Given the description of an element on the screen output the (x, y) to click on. 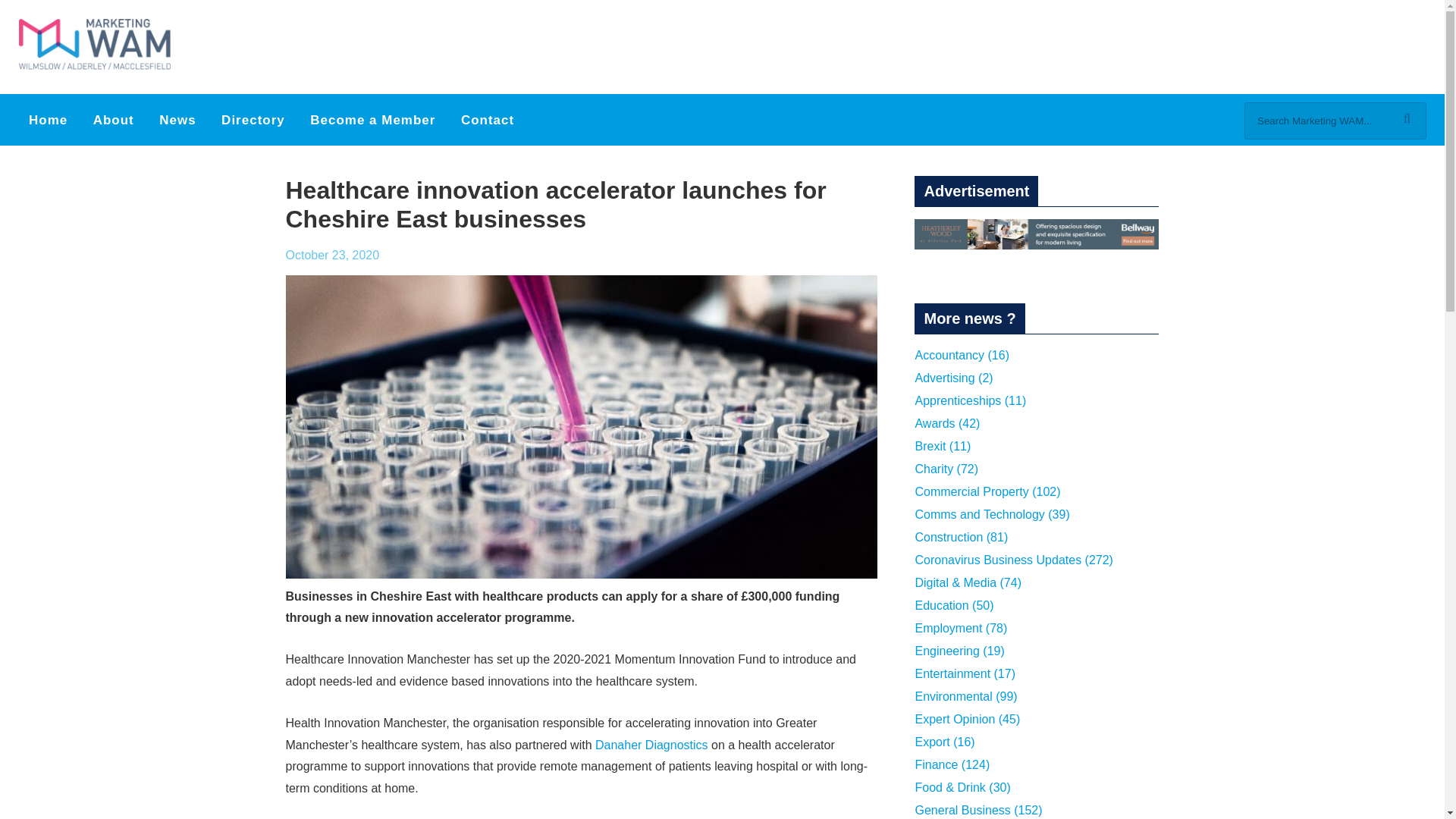
marketingwam.co.uk (102, 45)
Become a Member (372, 120)
News (177, 120)
Danaher Diagnostics (651, 744)
Home (47, 120)
Directory (253, 120)
About (113, 120)
Contact (486, 120)
